Given the description of an element on the screen output the (x, y) to click on. 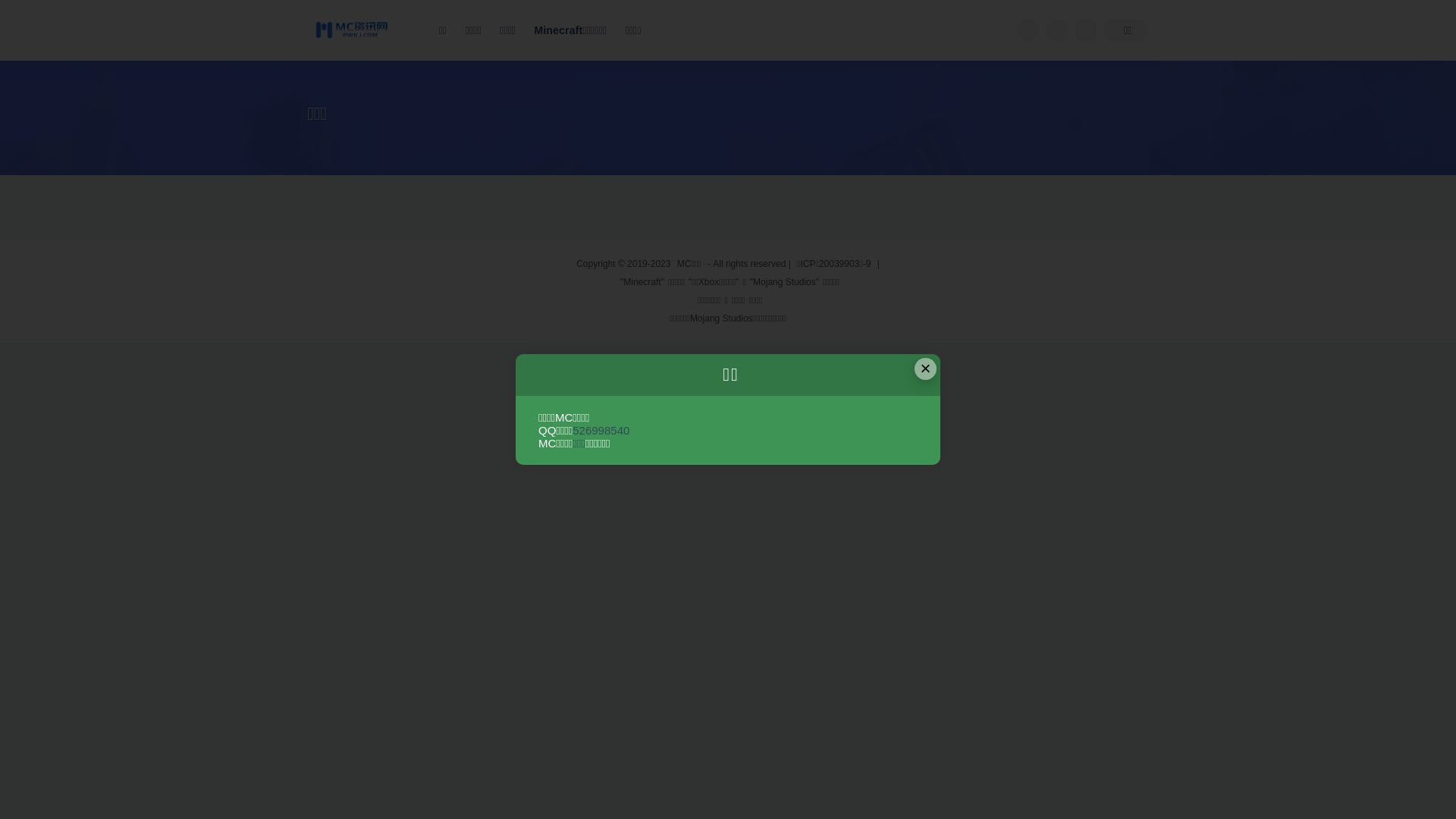
526998540 Element type: text (600, 429)
"Mojang Studios" Element type: text (784, 281)
"Minecraft" Element type: text (642, 281)
